Given the description of an element on the screen output the (x, y) to click on. 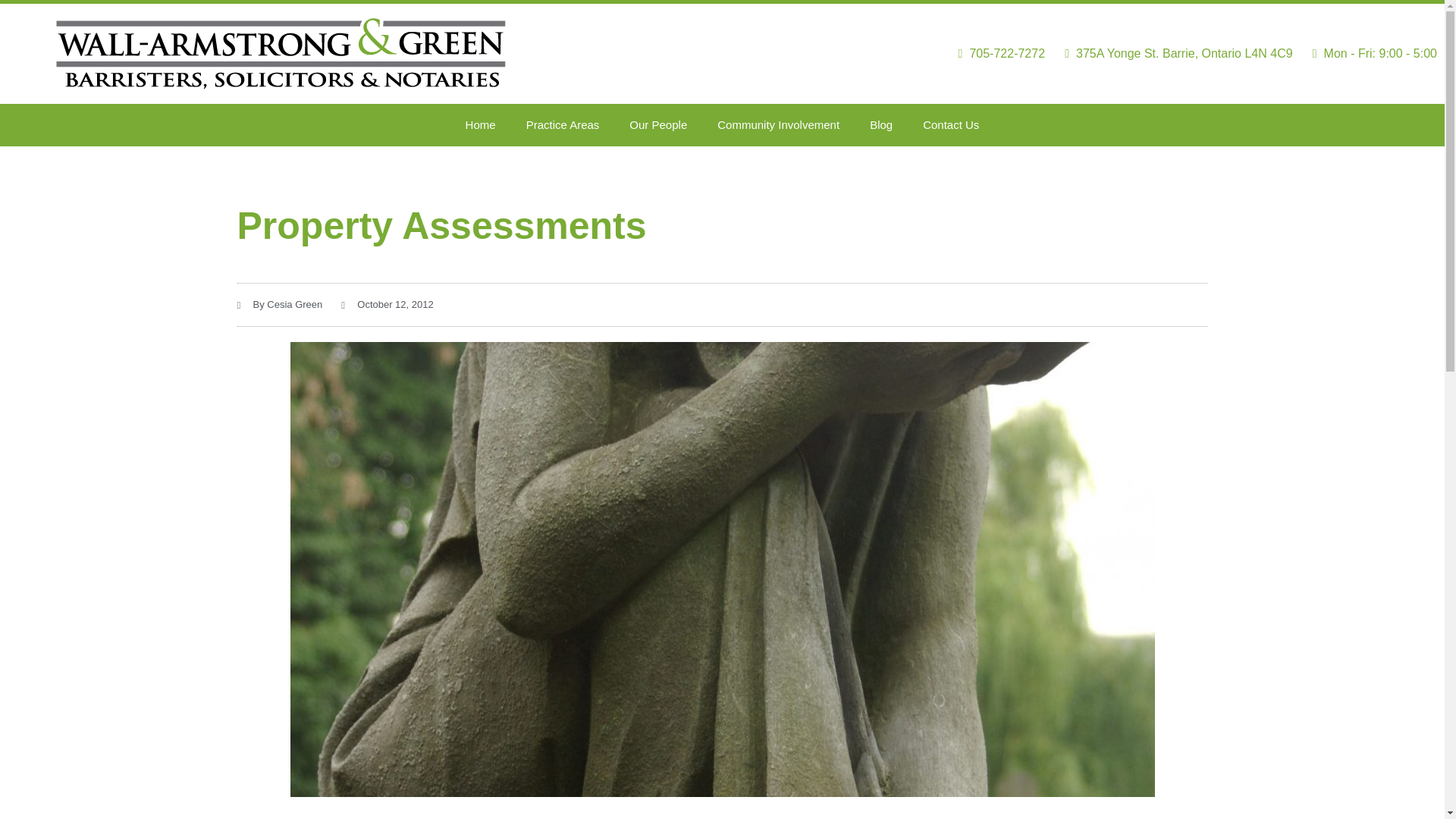
Our People (657, 125)
Contact Us (950, 125)
Blog (880, 125)
October 12, 2012 (386, 304)
705-722-7272 (996, 53)
Practice Areas (562, 125)
By Cesia Green (278, 304)
Community Involvement (777, 125)
Home (480, 125)
